Given the description of an element on the screen output the (x, y) to click on. 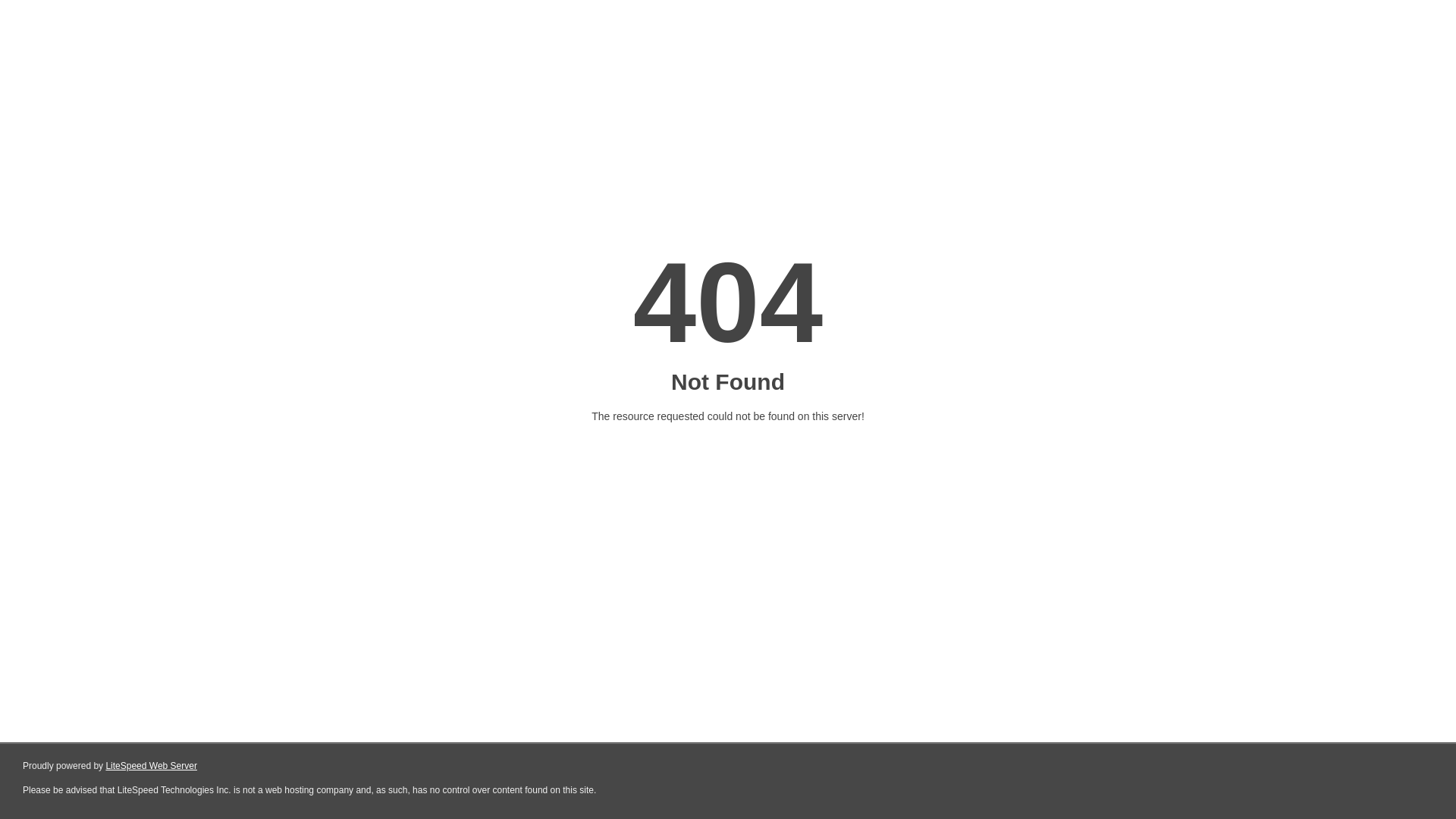
LiteSpeed Web Server Element type: text (151, 765)
